Given the description of an element on the screen output the (x, y) to click on. 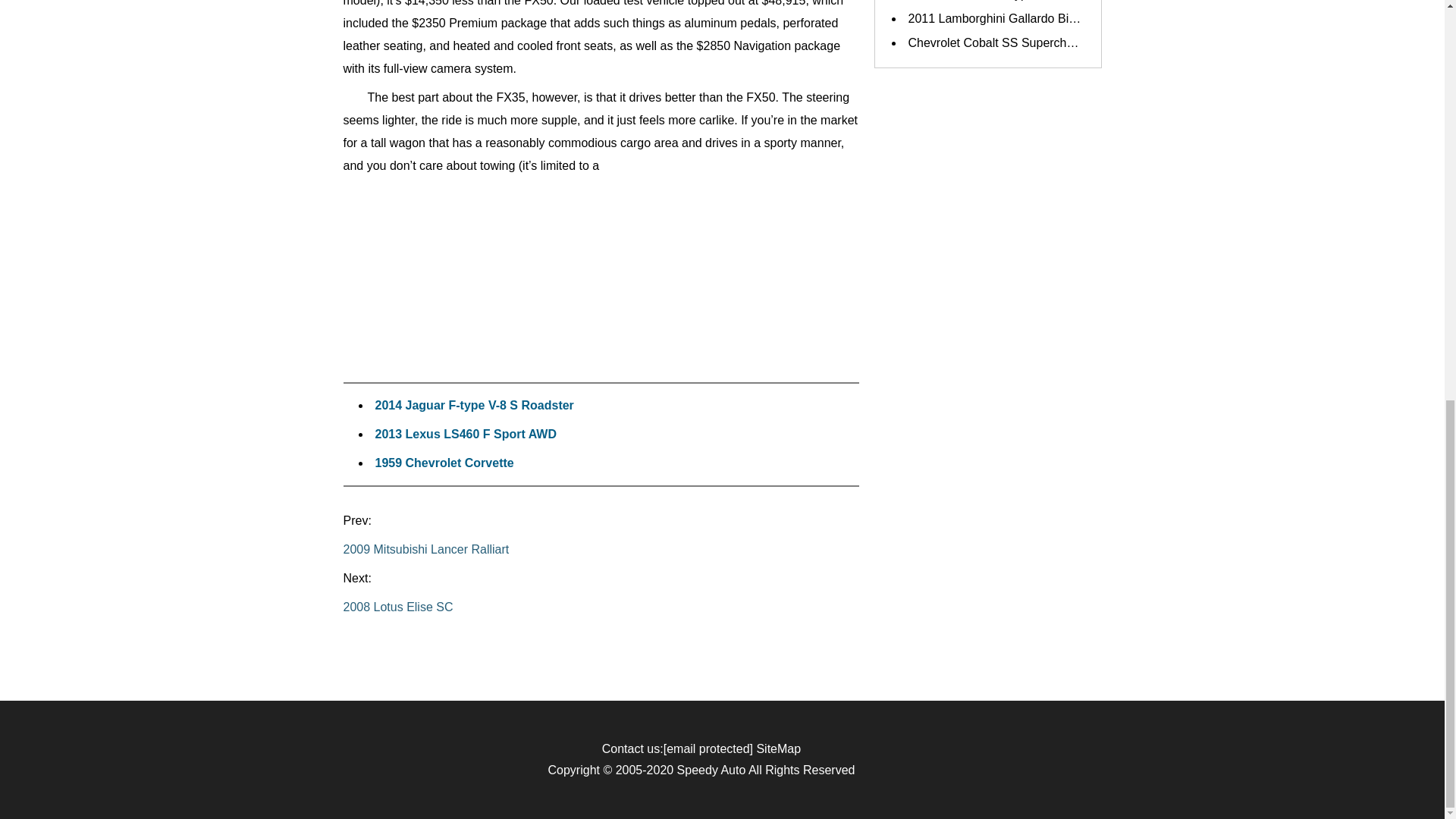
2009 Mitsubishi Lancer Ralliart (600, 549)
SiteMap (777, 748)
2008 Lotus Elise SC (600, 606)
2013 Lexus LS460 F Sport AWD (465, 433)
1959 Chevrolet Corvette (443, 462)
Chevrolet Cobalt SS Supercharged (1002, 42)
2014 Jaguar F-type V-8 S Roadster (473, 404)
